Given the description of an element on the screen output the (x, y) to click on. 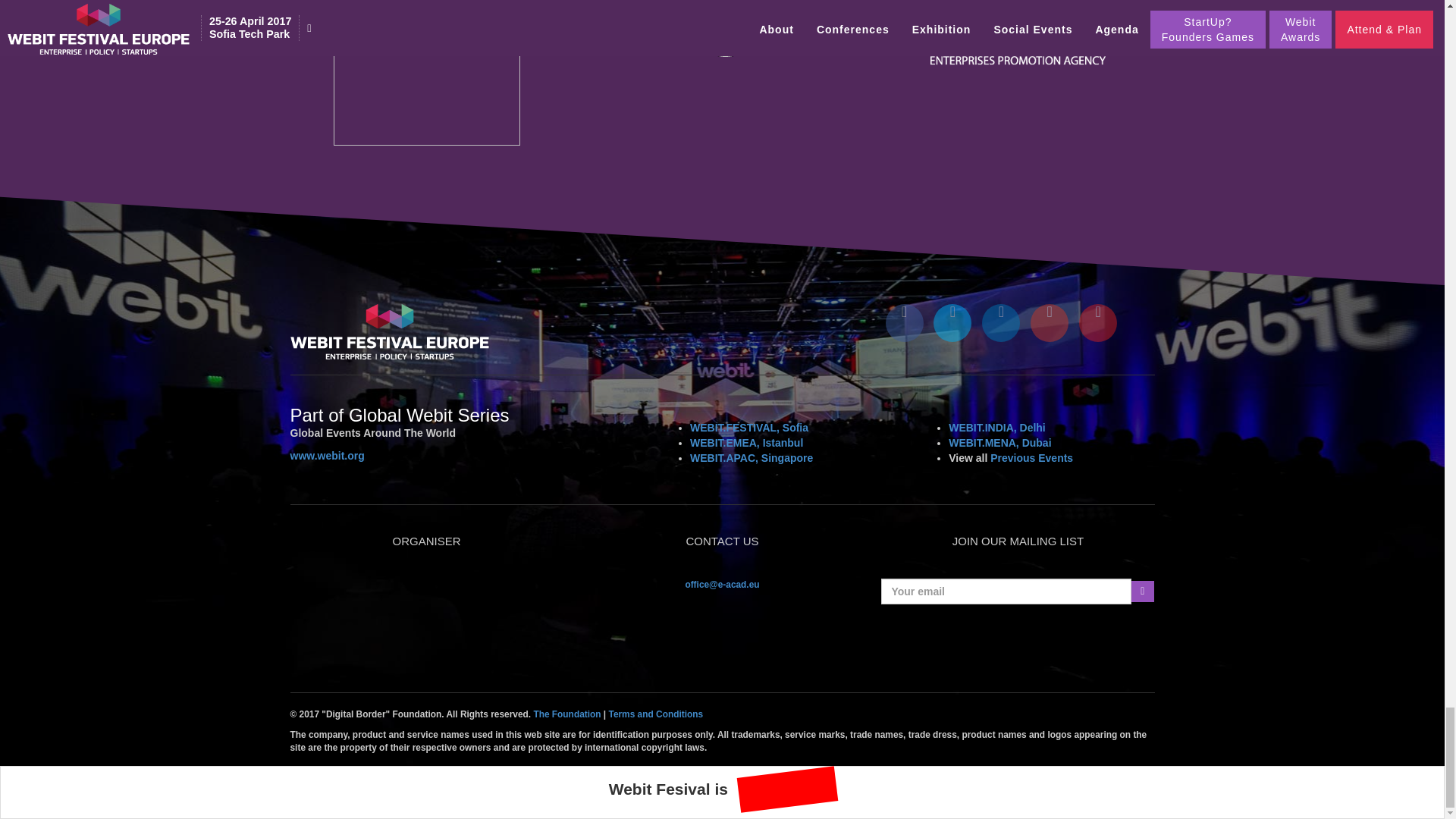
Twitter (952, 322)
LinkedIn (1000, 322)
YouTube (1097, 322)
Facebook (904, 322)
LinkedIn (1049, 322)
